Given the description of an element on the screen output the (x, y) to click on. 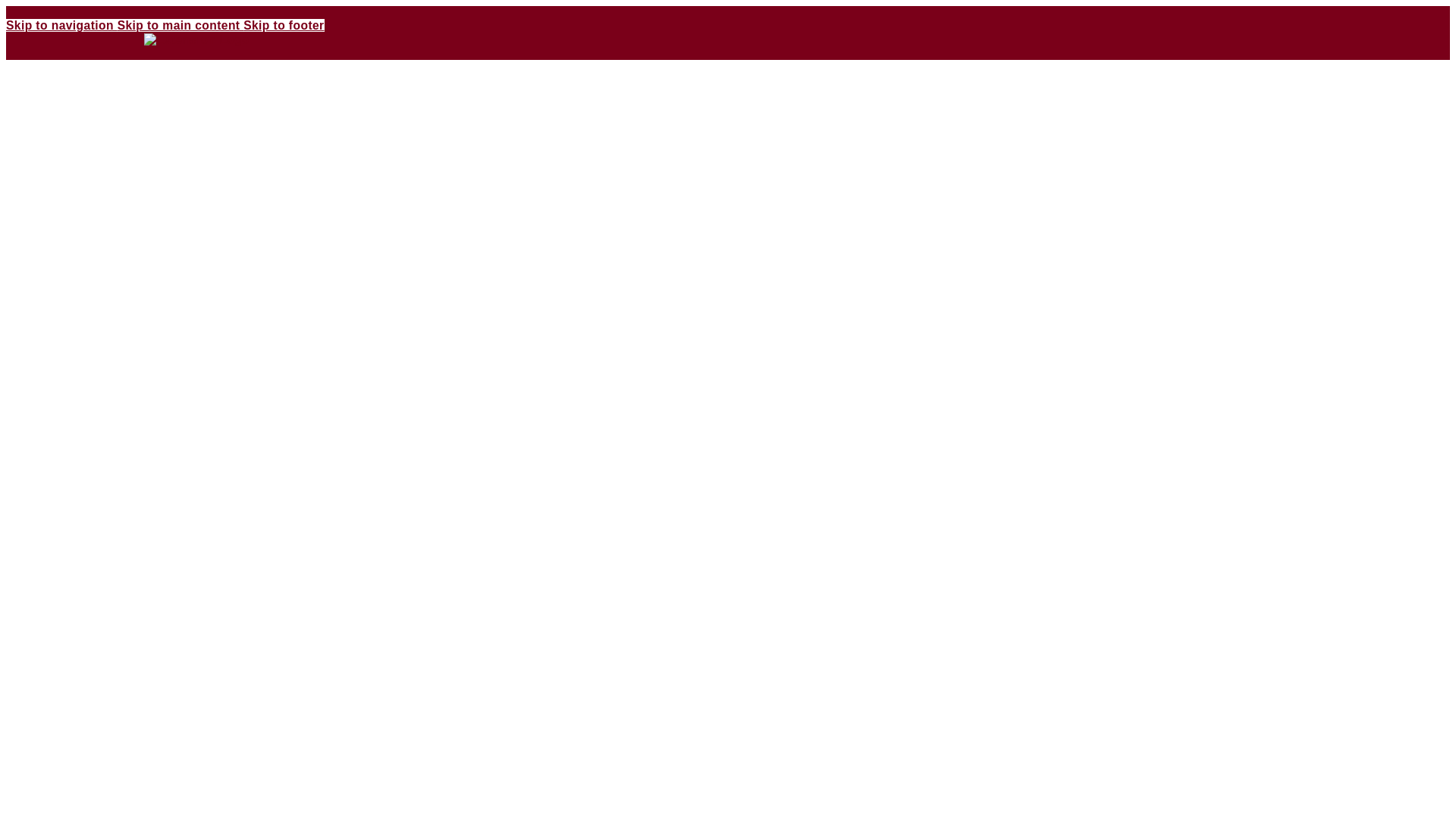
Skip to navigation (61, 24)
Skip to footer (283, 24)
Skip to main content (180, 24)
